Given the description of an element on the screen output the (x, y) to click on. 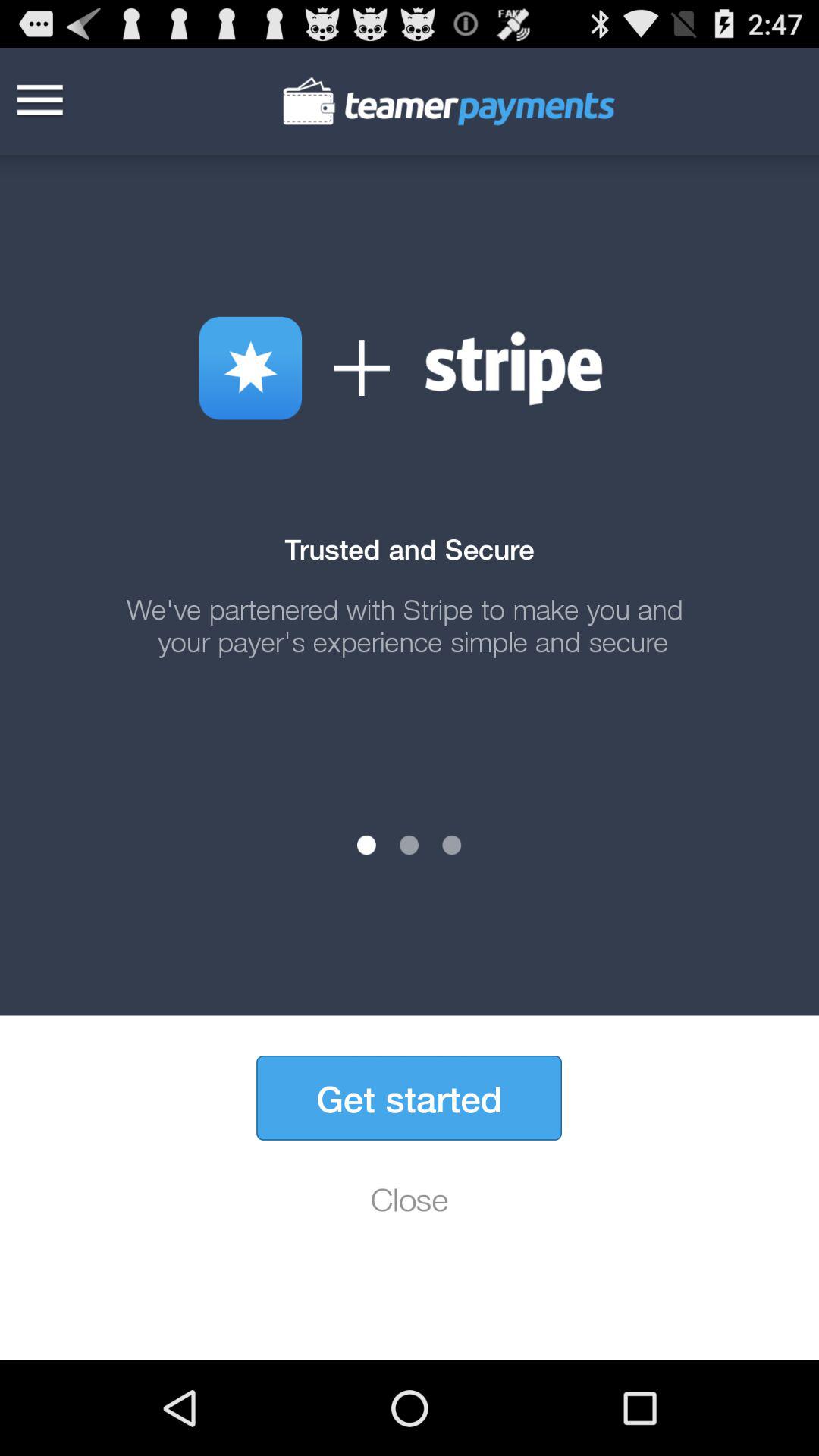
turn on the icon above the close icon (408, 1097)
